Given the description of an element on the screen output the (x, y) to click on. 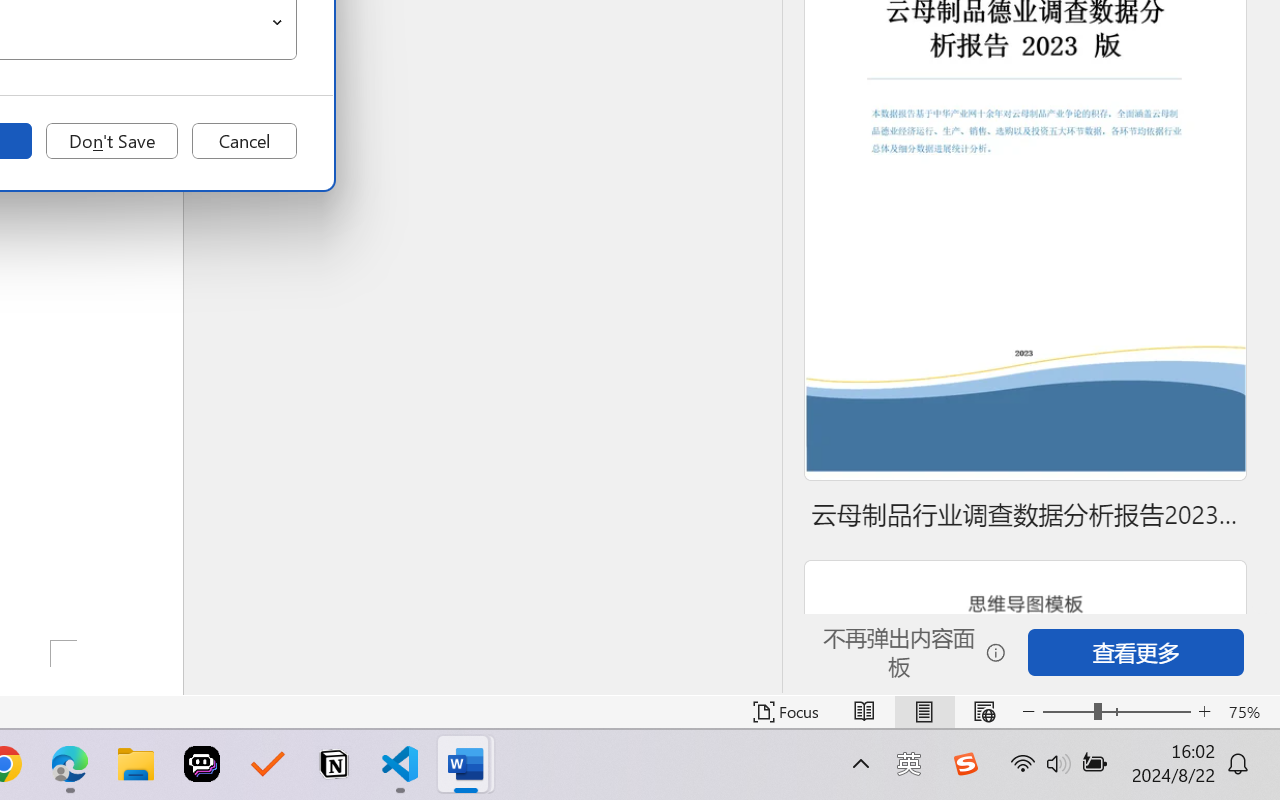
Print Layout (924, 712)
Class: Image (965, 764)
Zoom (1116, 712)
Notion (333, 764)
Cancel (244, 141)
Web Layout (984, 712)
Focus  (786, 712)
